Given the description of an element on the screen output the (x, y) to click on. 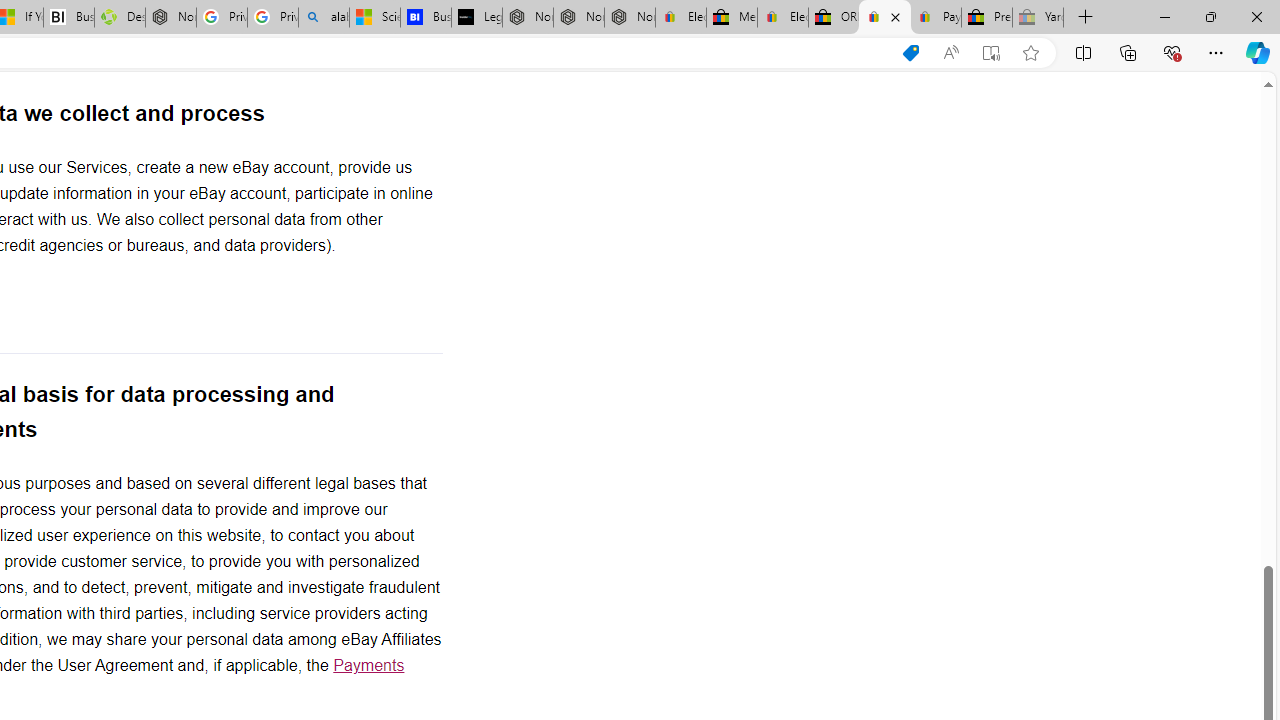
User Privacy Notice | eBay (885, 17)
Electronics, Cars, Fashion, Collectibles & More | eBay (782, 17)
Enter Immersive Reader (F9) (991, 53)
